Given the description of an element on the screen output the (x, y) to click on. 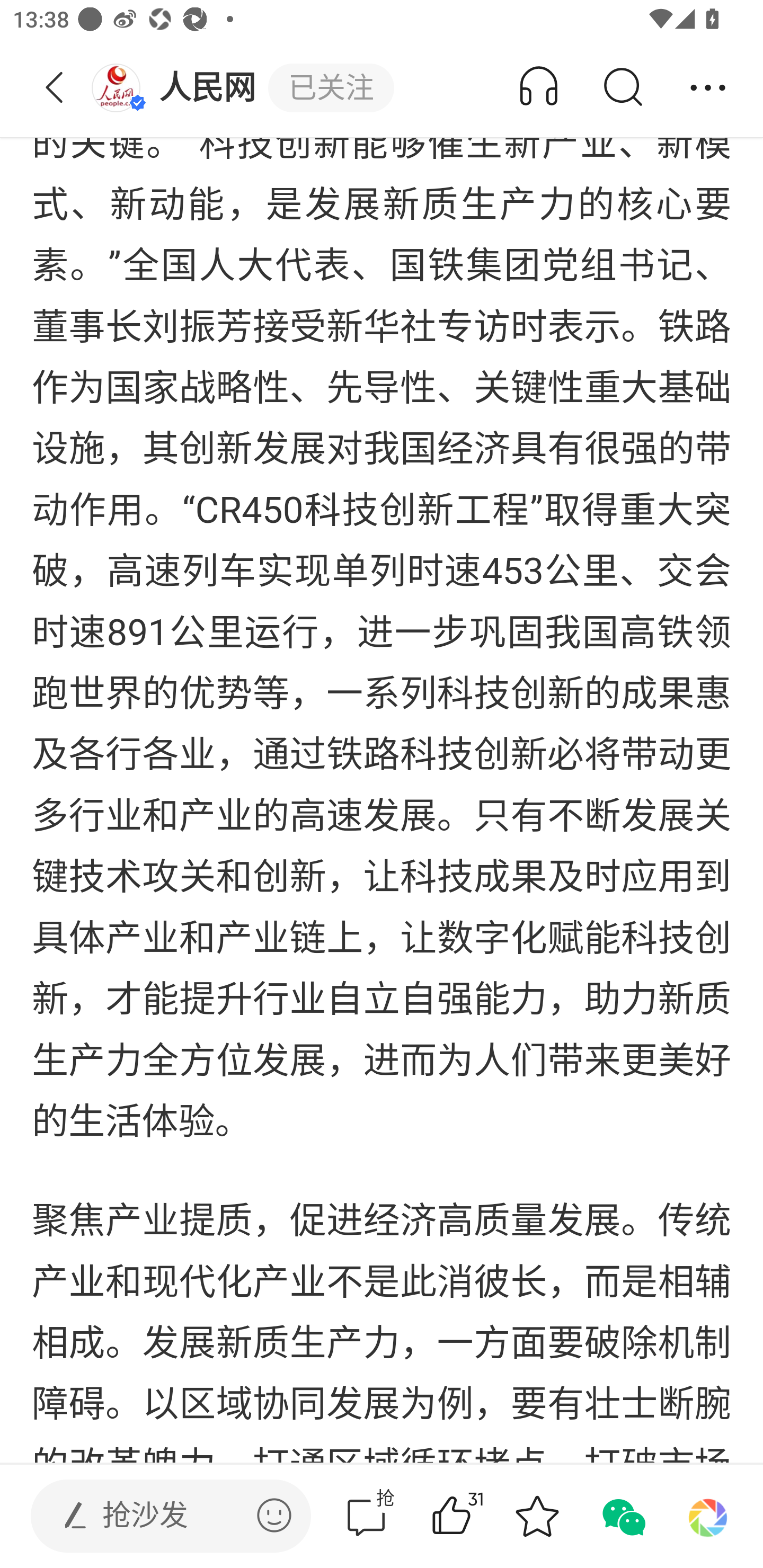
人民网 (179, 87)
搜索  (622, 87)
分享  (707, 87)
 返回 (54, 87)
已关注 (330, 88)
发表评论  抢沙发 发表评论  (155, 1516)
抢评论  抢 评论 (365, 1516)
31赞 (476, 1516)
收藏  (536, 1516)
分享到微信  (622, 1516)
分享到朋友圈 (707, 1516)
 (274, 1515)
